Given the description of an element on the screen output the (x, y) to click on. 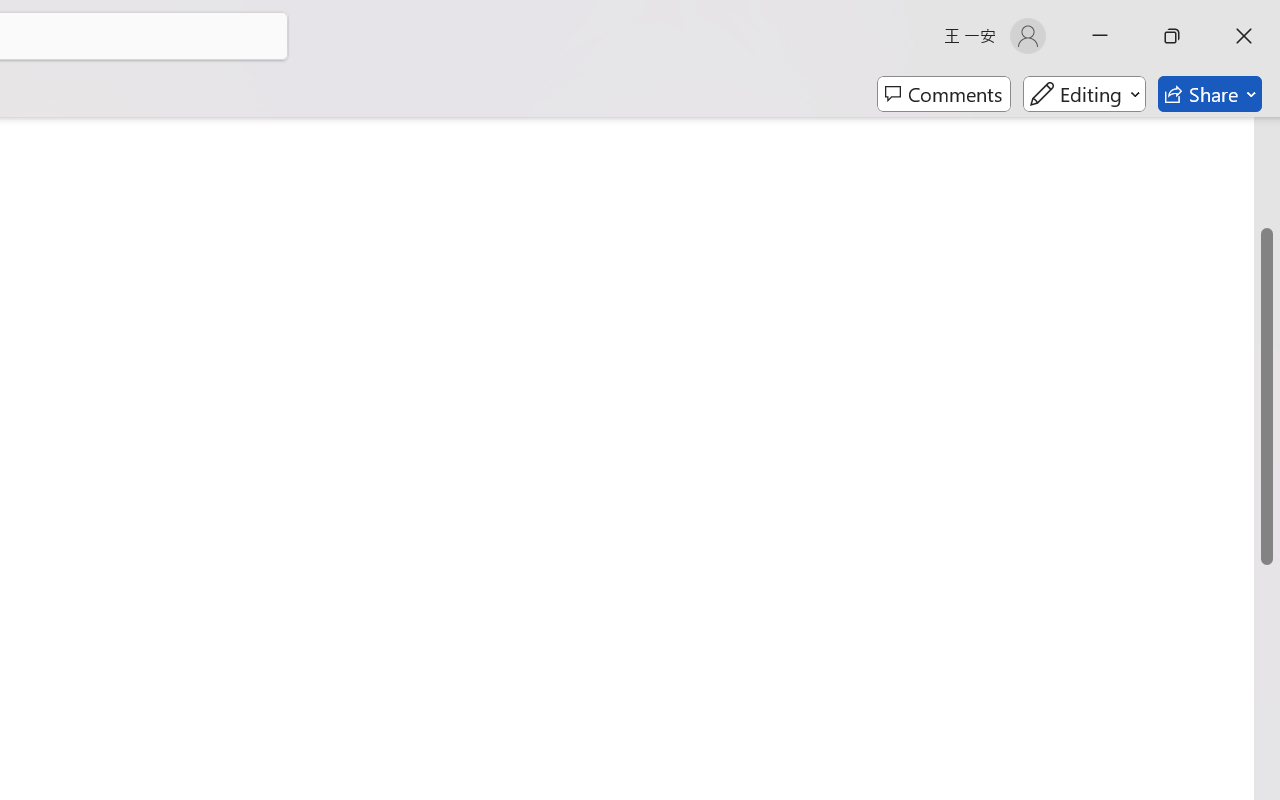
Restore Down (1172, 36)
Comments (943, 94)
Mode (1083, 94)
Share (1210, 94)
Minimize (1099, 36)
Close (1244, 36)
